Given the description of an element on the screen output the (x, y) to click on. 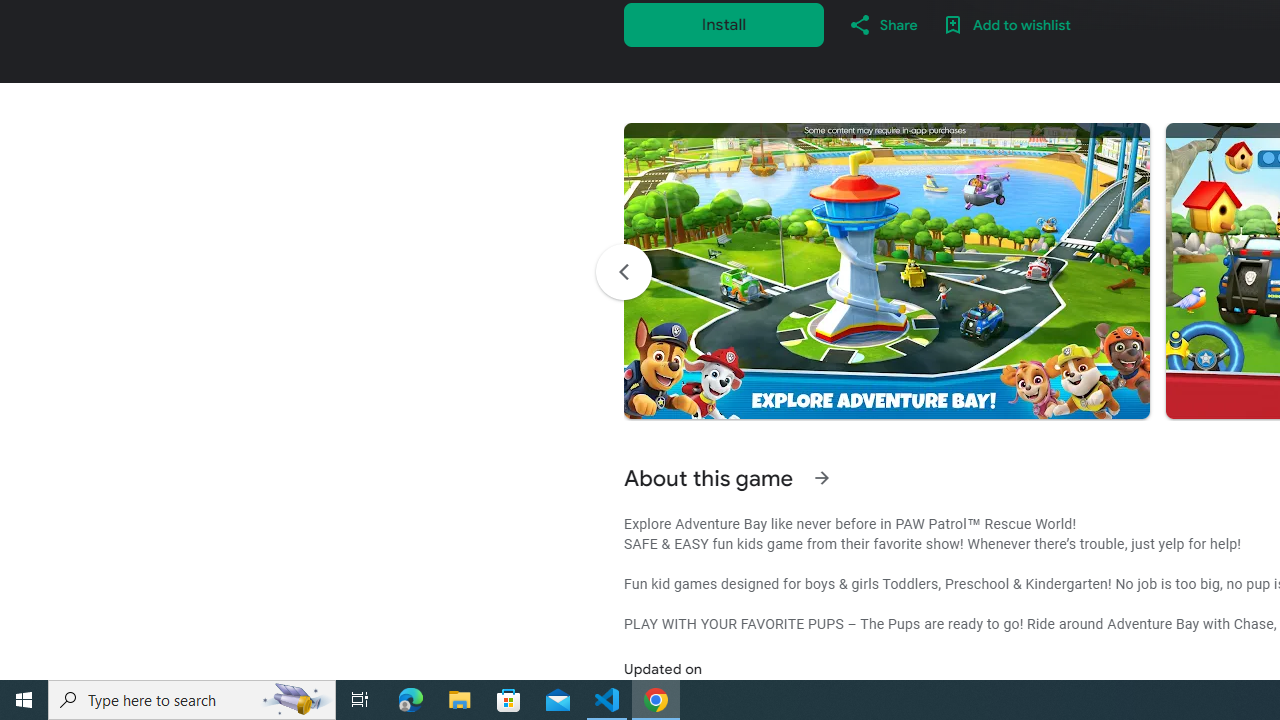
Scroll Previous (623, 272)
Install (723, 24)
Share (881, 24)
Screenshot image (886, 271)
See more information on About this game (821, 477)
Add to wishlist (1006, 24)
